Given the description of an element on the screen output the (x, y) to click on. 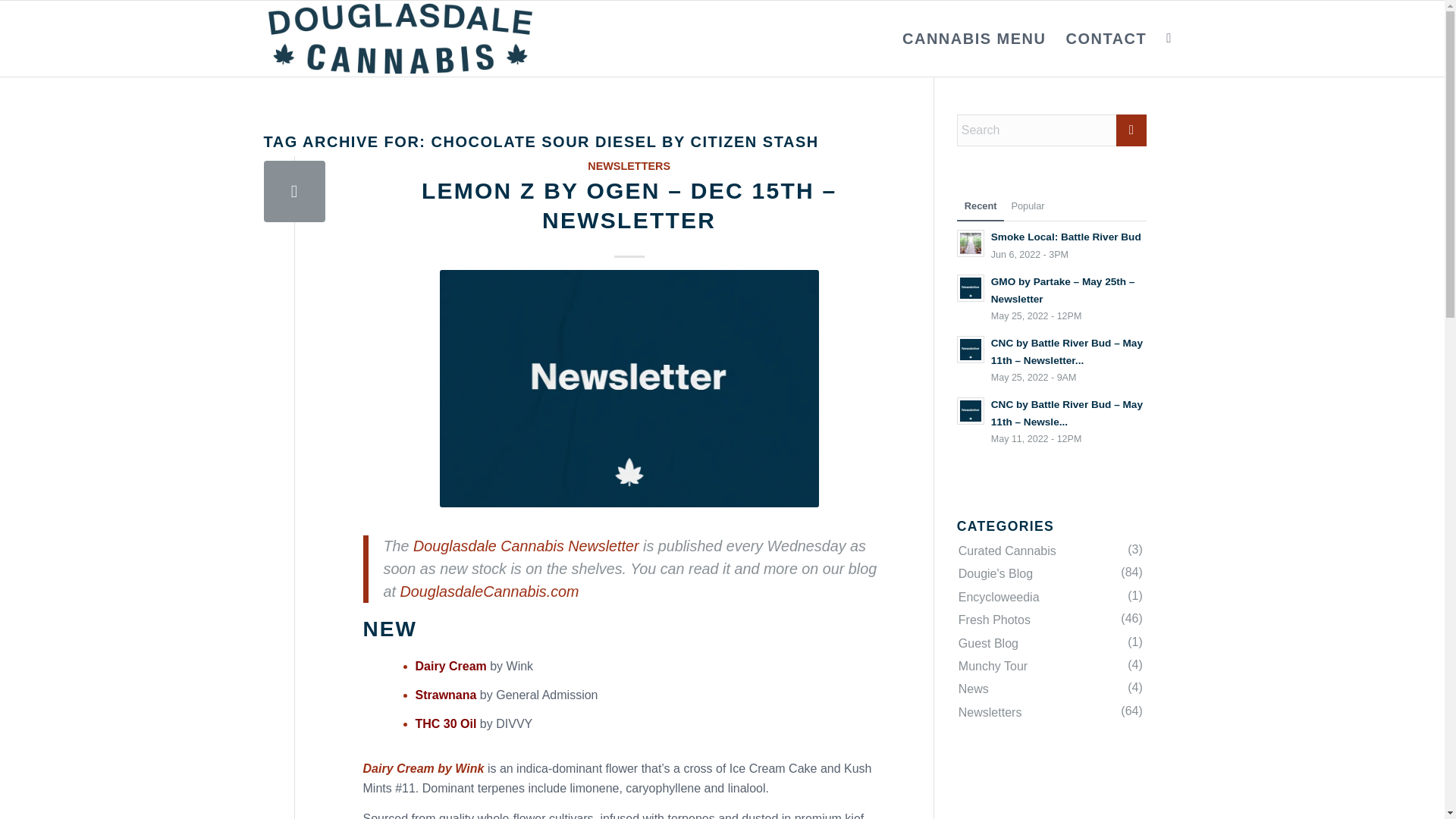
Munchy Tour (1049, 666)
CANNABIS MENU (974, 38)
Douglasdale Logo (400, 38)
Guest Blog (1049, 643)
Click to start search (1131, 130)
DouglasdaleCannabis.com (488, 591)
Encycloweedia (1049, 597)
Dougie's Blog (1049, 573)
Newsletter (293, 190)
Read: Smoke Local: Battle River Bud (1066, 236)
NEWSLETTERS (628, 165)
Curated Cannabis (1049, 550)
Douglasdale Cannabis Newsletter (526, 545)
News (1049, 689)
Smoke Local: Battle River Bud (1066, 236)
